Given the description of an element on the screen output the (x, y) to click on. 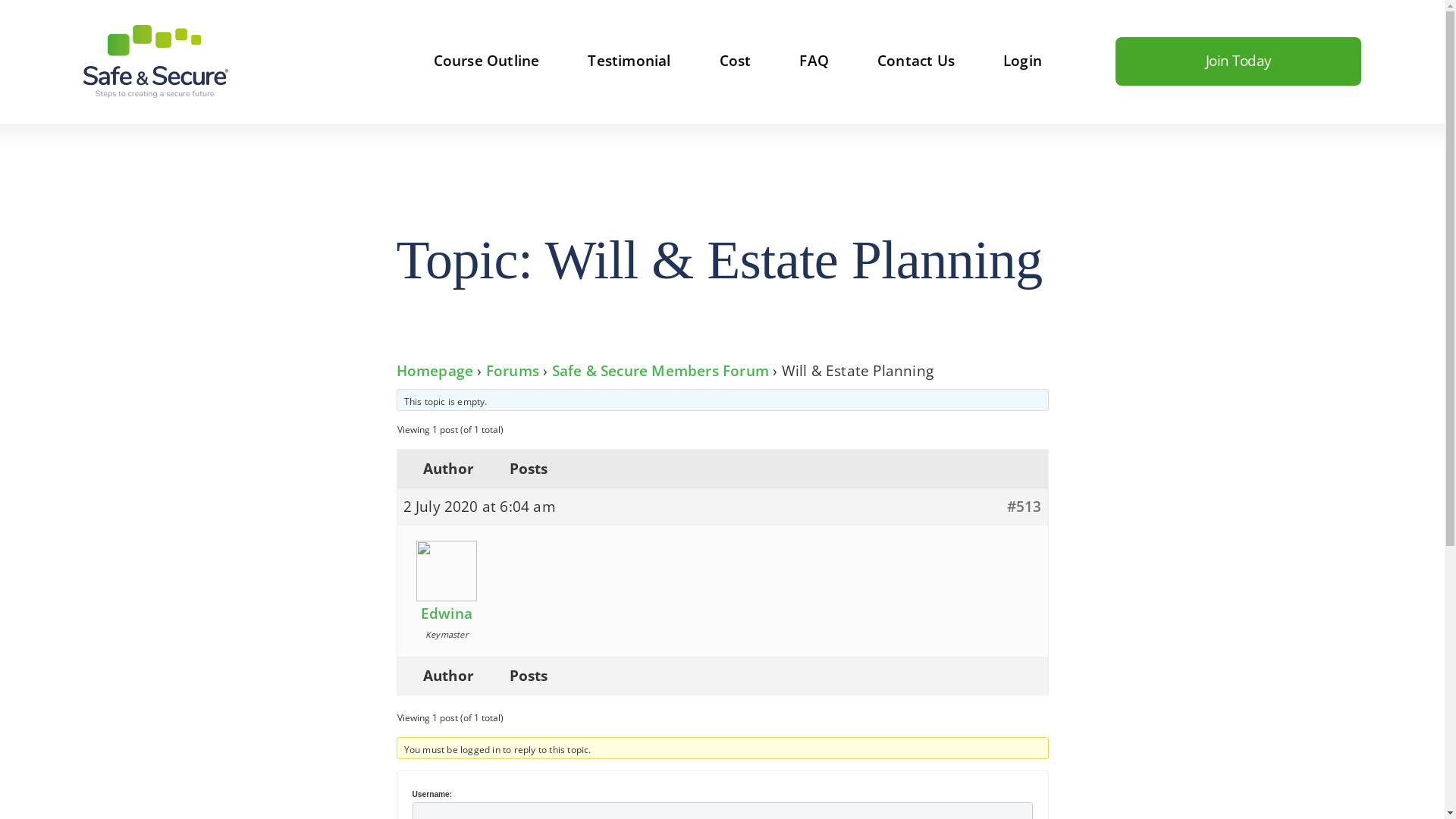
Homepage Element type: text (434, 370)
#513 Element type: text (1024, 506)
FAQ Element type: text (813, 60)
Edwina Element type: text (446, 606)
Join Today Element type: text (1238, 61)
Safe & Secure Members Forum Element type: text (660, 370)
Forums Element type: text (512, 370)
Login Element type: text (1022, 60)
Cost Element type: text (735, 60)
Testimonial Element type: text (628, 60)
Contact Us Element type: text (915, 60)
Course Outline Element type: text (486, 60)
